Given the description of an element on the screen output the (x, y) to click on. 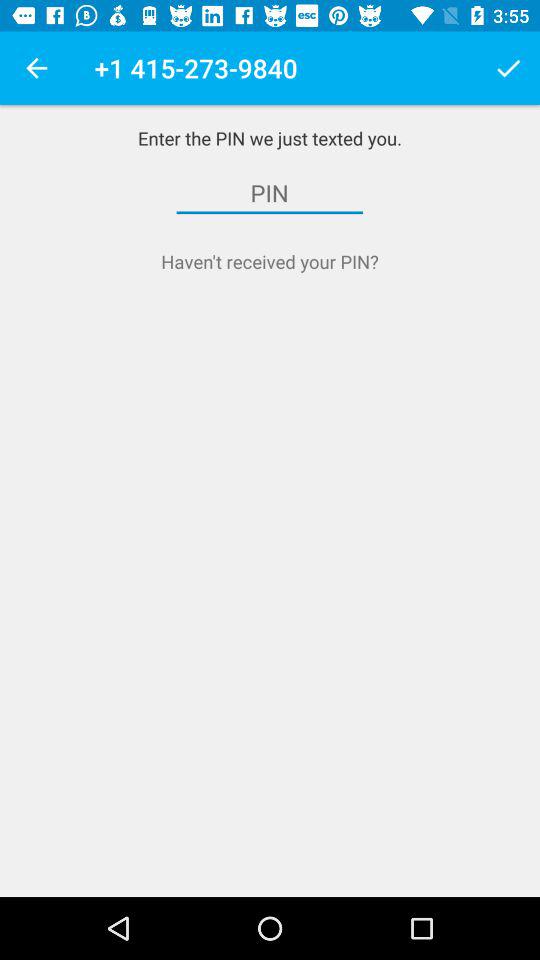
flip to the haven t received icon (269, 261)
